Given the description of an element on the screen output the (x, y) to click on. 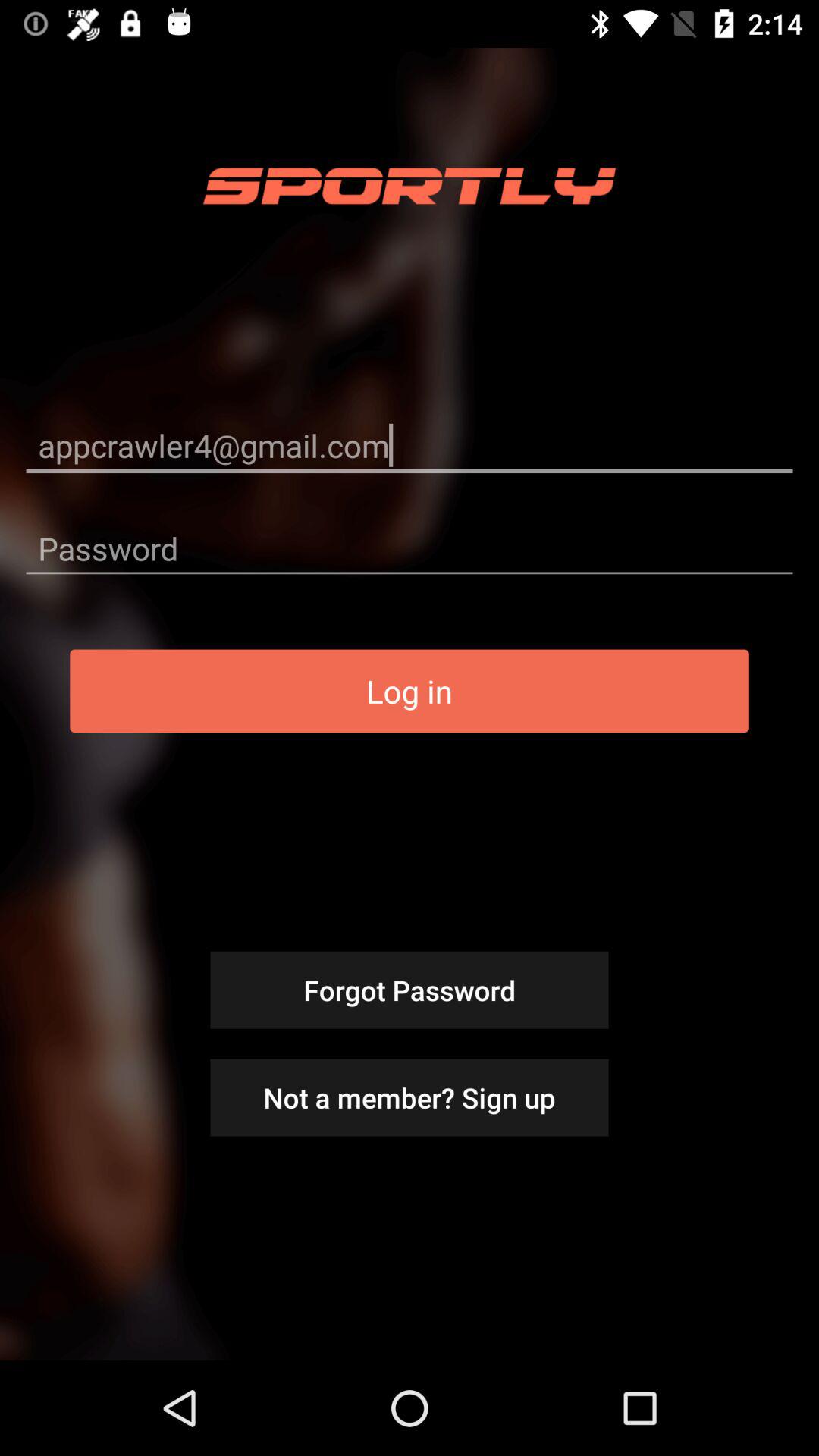
jump to the not a member item (409, 1097)
